Given the description of an element on the screen output the (x, y) to click on. 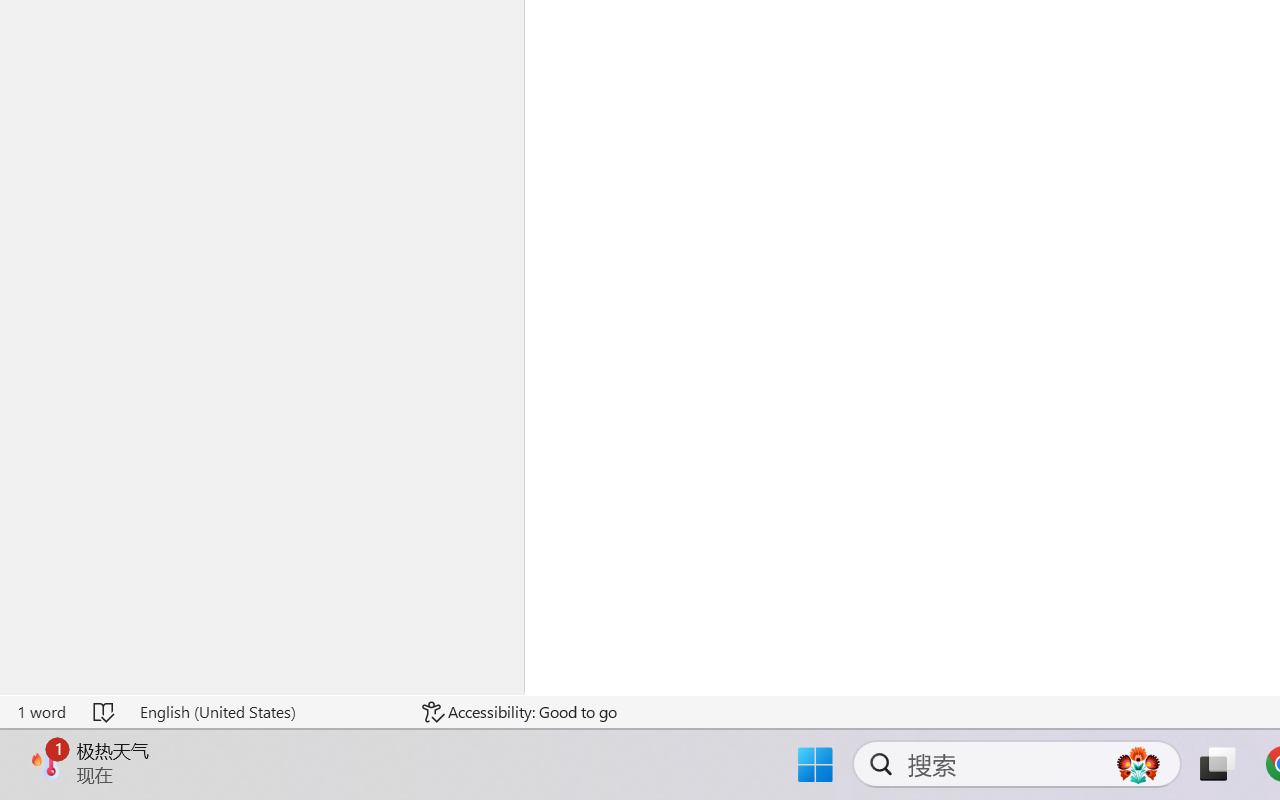
Accessibility Checker Accessibility: Good to go (519, 712)
Word Count 1 word (41, 712)
AutomationID: BadgeAnchorLargeTicker (46, 762)
AutomationID: DynamicSearchBoxGleamImage (1138, 764)
Language English (United States) (267, 712)
Spelling and Grammar Check No Errors (105, 712)
